Given the description of an element on the screen output the (x, y) to click on. 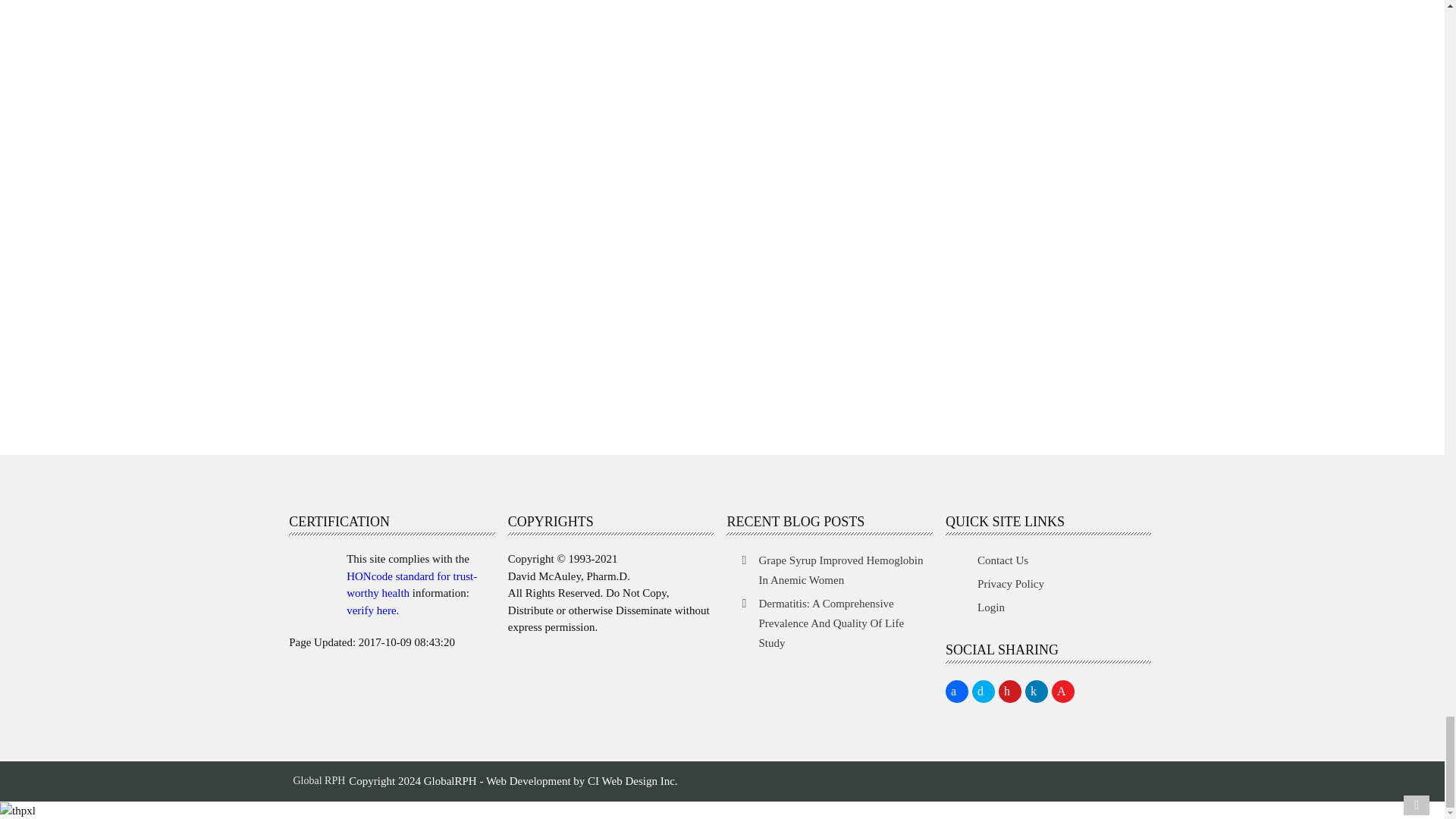
Share on Share (956, 691)
Share on Tweet (983, 691)
Share on Pin (1010, 691)
Share on Love This (1062, 691)
Share on LinkedIn (1036, 691)
